Given the description of an element on the screen output the (x, y) to click on. 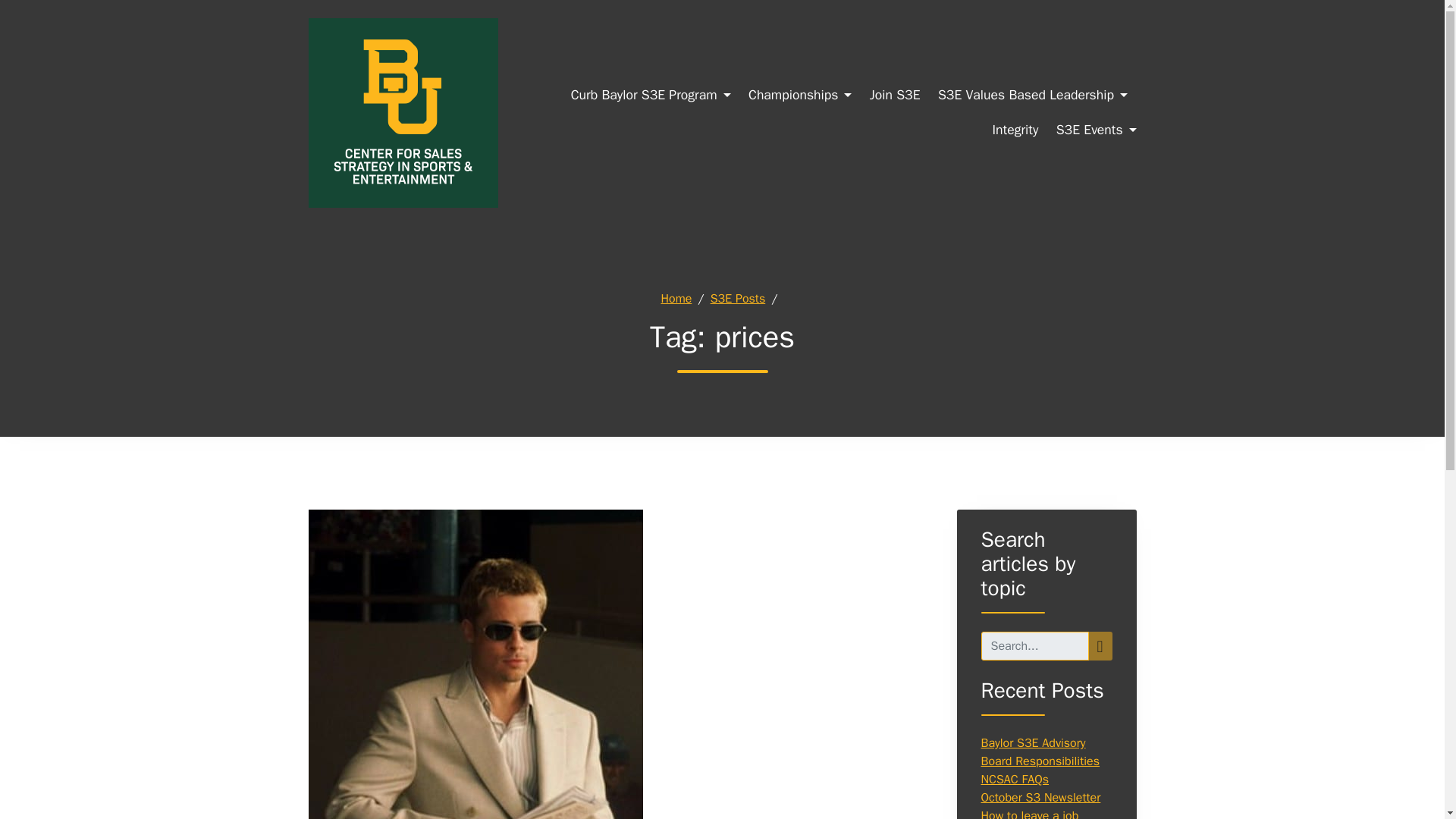
Join S3E (894, 95)
S3E Values Based Leadership (1031, 95)
S3E Values Based Leadership (1031, 95)
Curb Baylor S3E Program (650, 95)
Home (676, 298)
October S3 Newsletter (1040, 797)
Join S3E (894, 95)
Curb Baylor S3E Program (650, 95)
Championships (799, 95)
S3E Posts (737, 298)
